Given the description of an element on the screen output the (x, y) to click on. 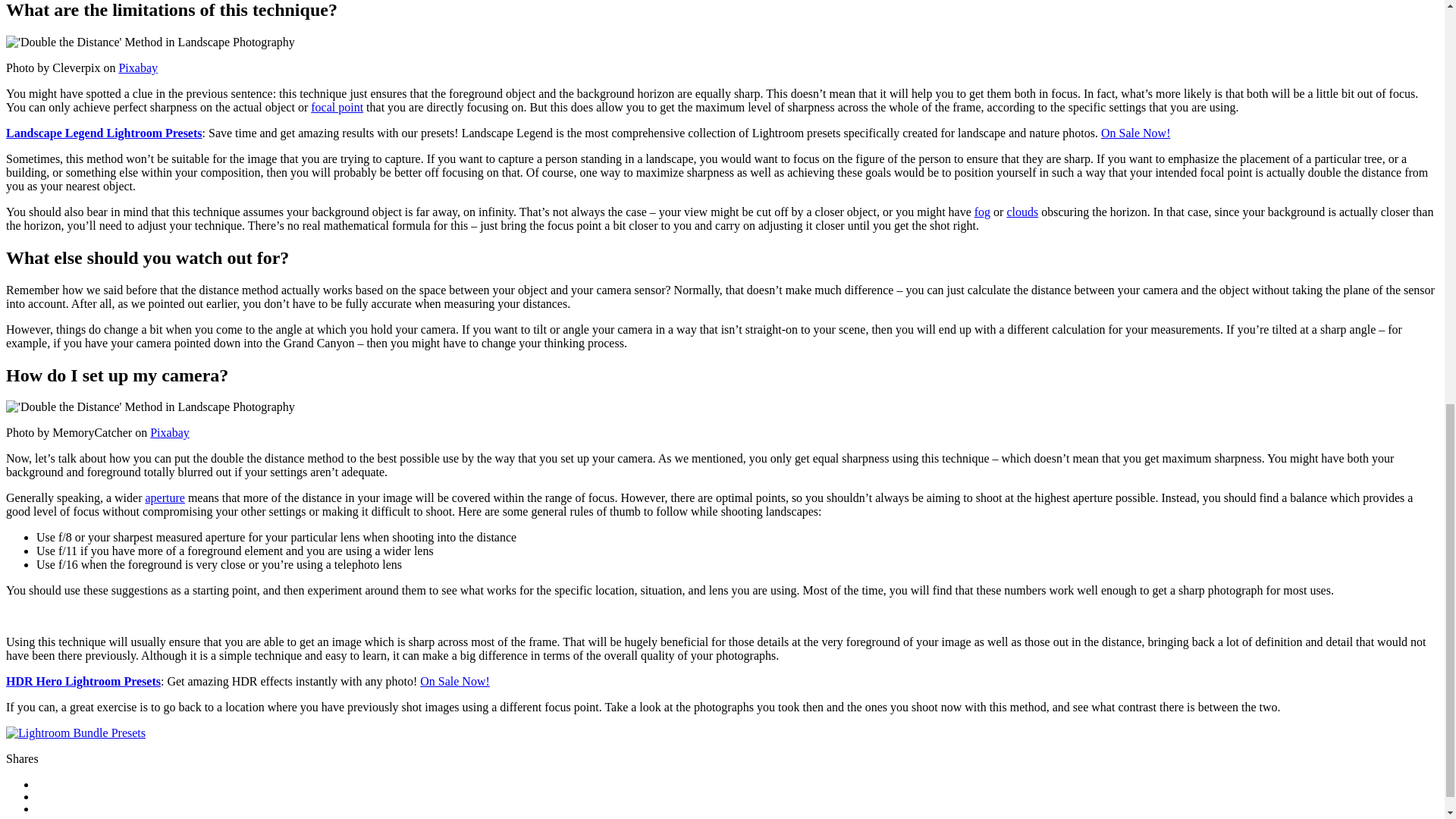
Pixabay (137, 67)
fog (982, 211)
aperture (164, 497)
On Sale Now! (1135, 132)
focal point (336, 106)
On Sale Now! (454, 680)
HDR Hero Lightroom Presets (82, 680)
Pixabay (169, 431)
Landscape Legend Lightroom Presets (103, 132)
clouds (1022, 211)
